Given the description of an element on the screen output the (x, y) to click on. 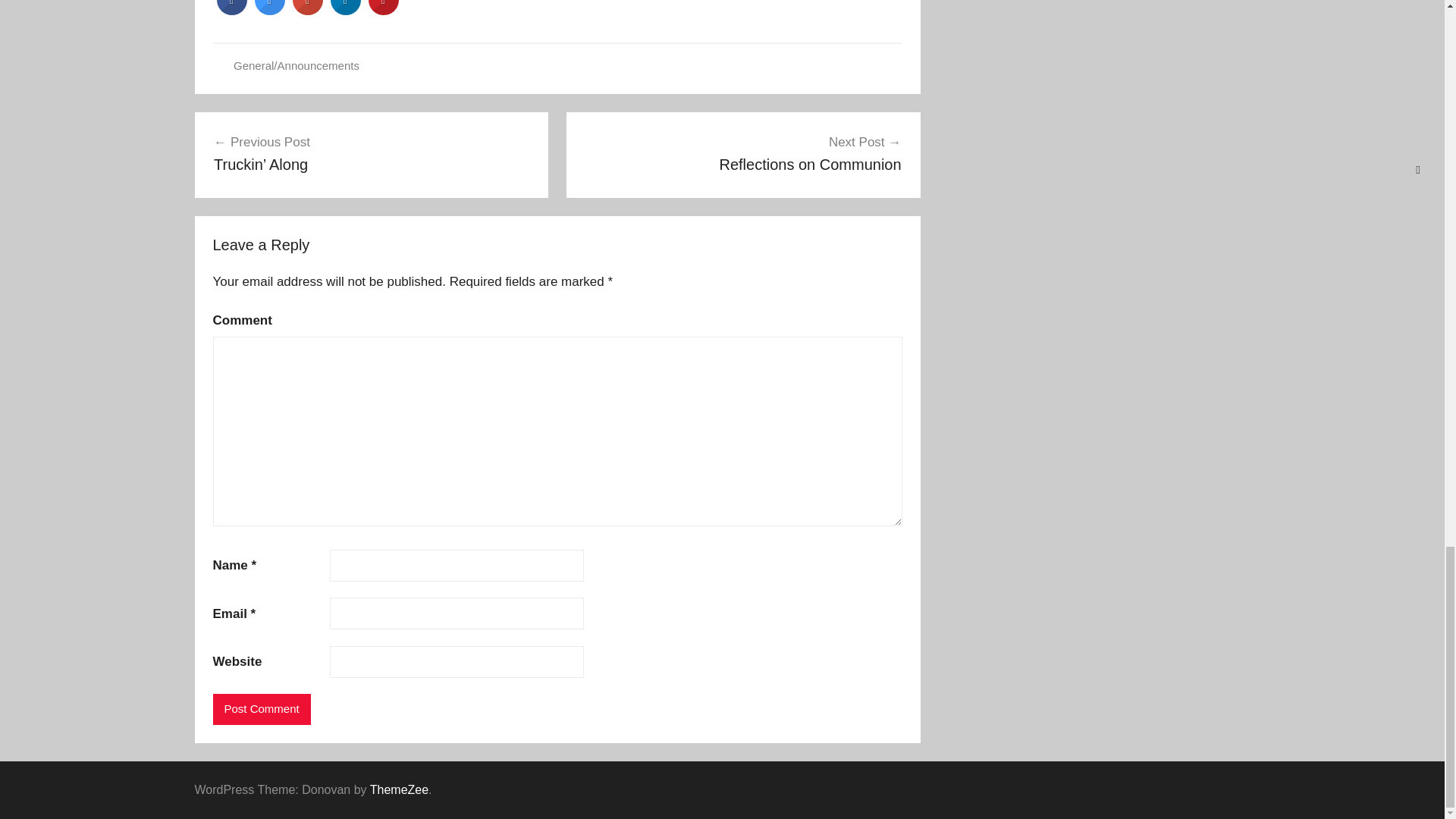
Post Comment (261, 708)
Share to Facebook (231, 10)
Share to LinkedIn (345, 10)
Share to Pinterest (383, 10)
Share to Google Plus (307, 10)
Share to Twitter (269, 10)
